Given the description of an element on the screen output the (x, y) to click on. 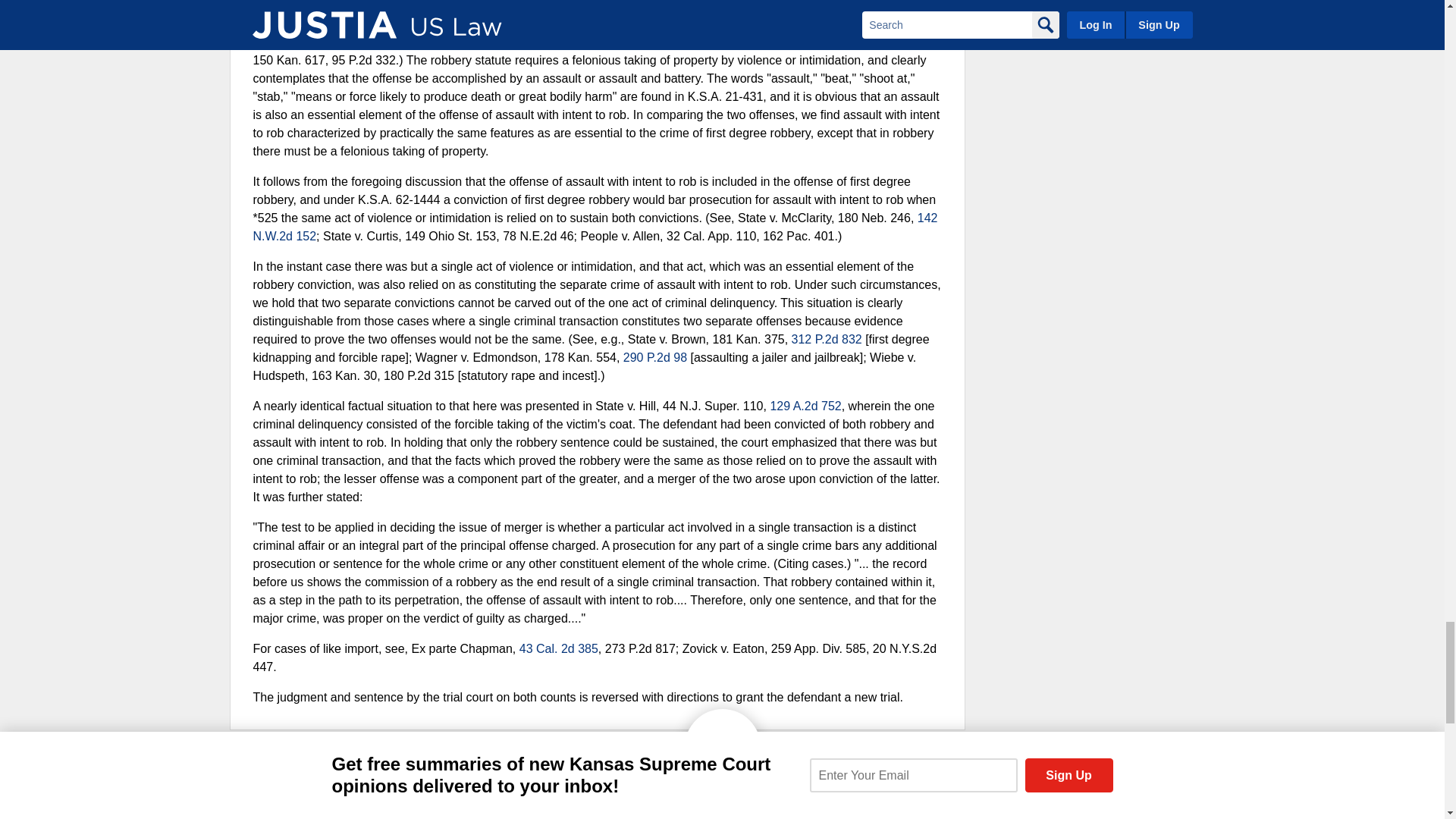
312 P.2d 832 (826, 338)
142 N.W.2d 152 (595, 226)
